Given the description of an element on the screen output the (x, y) to click on. 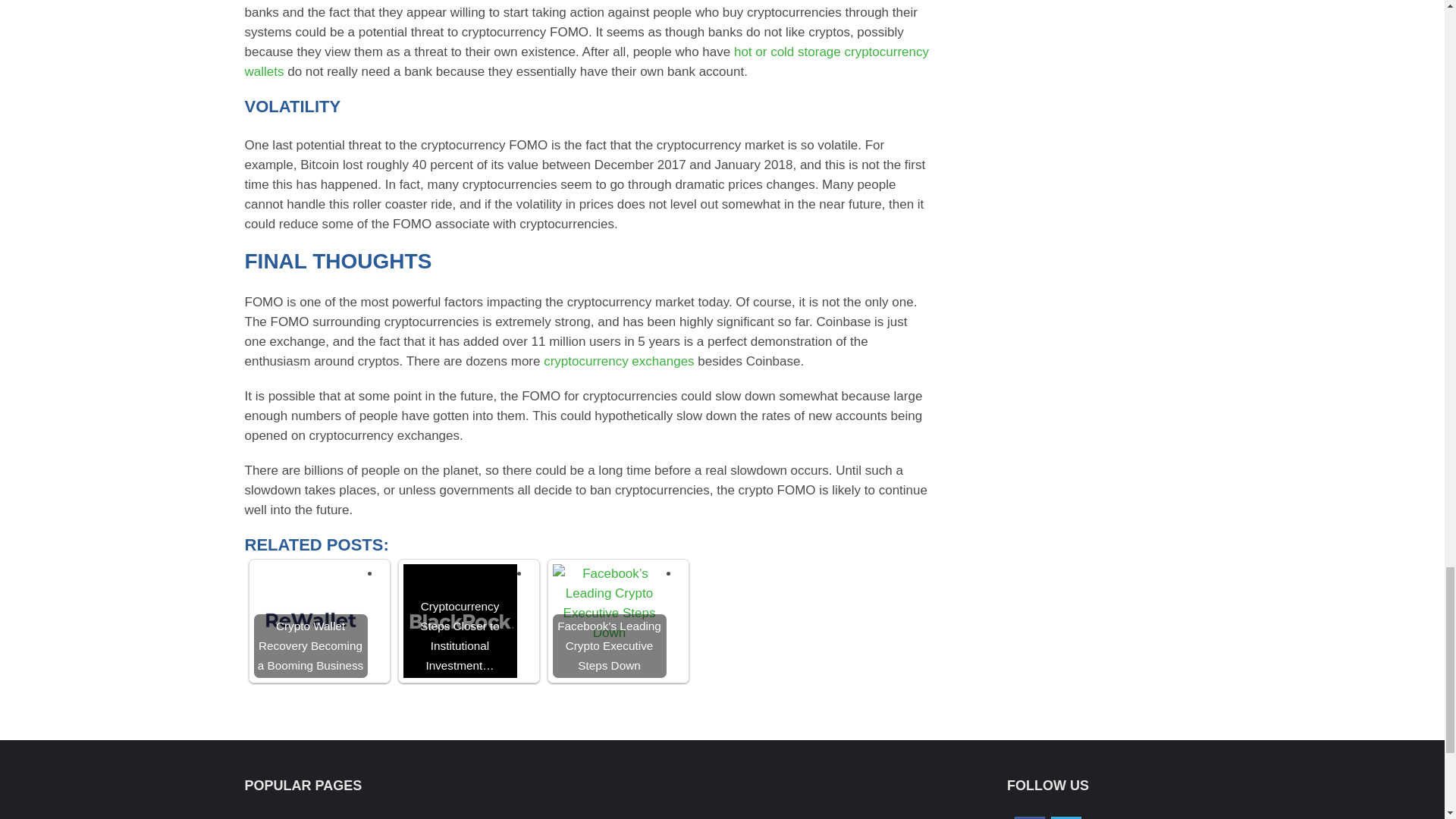
hot or cold storage cryptocurrency wallets (586, 61)
cryptocurrency exchanges (618, 360)
Crypto Wallet Recovery Becoming a Booming Business (309, 621)
Crypto Wallet Recovery Becoming a Booming Business (309, 621)
